Given the description of an element on the screen output the (x, y) to click on. 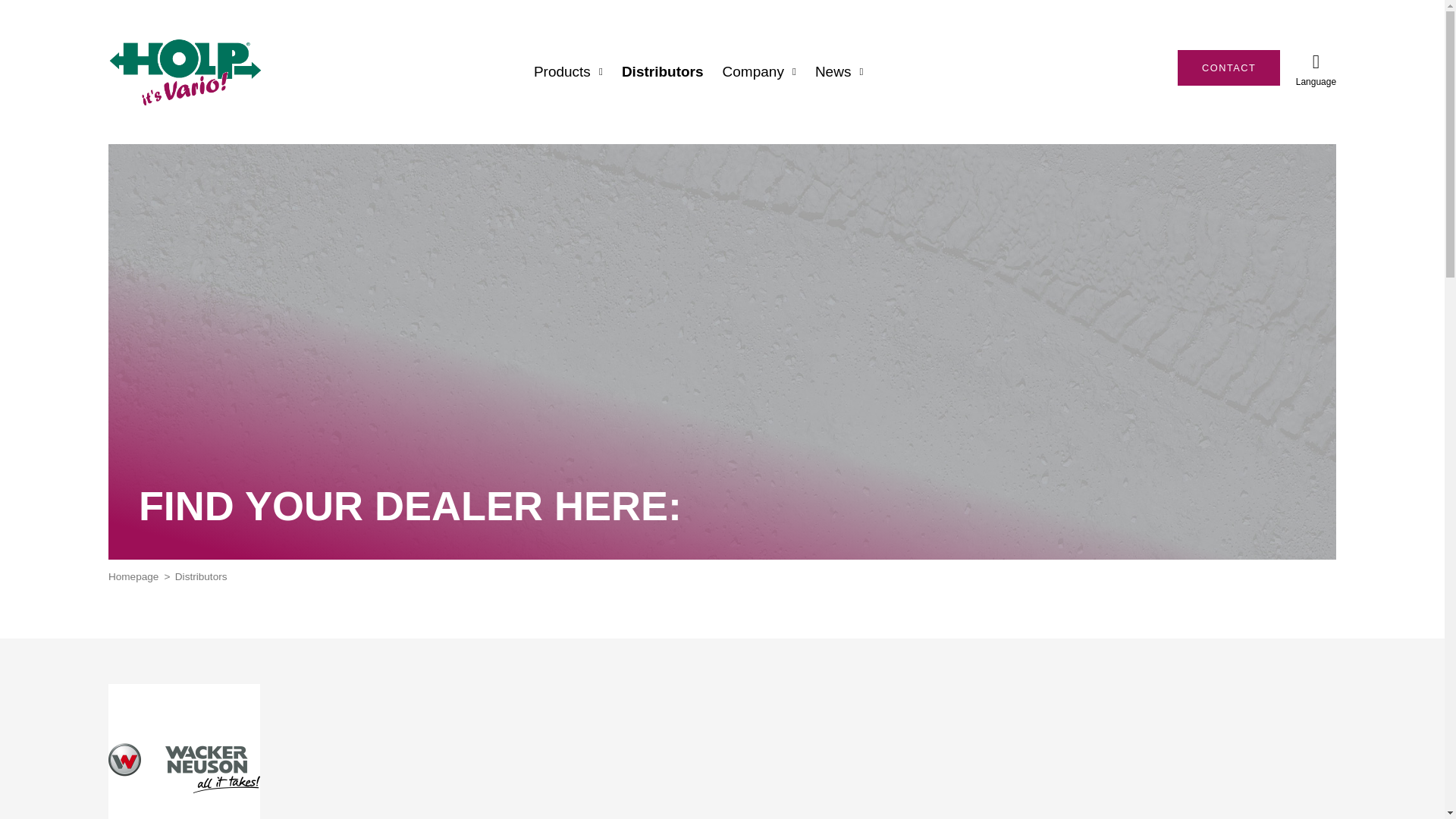
Company (759, 72)
News (839, 72)
Distributors (662, 72)
Products (568, 72)
